Given the description of an element on the screen output the (x, y) to click on. 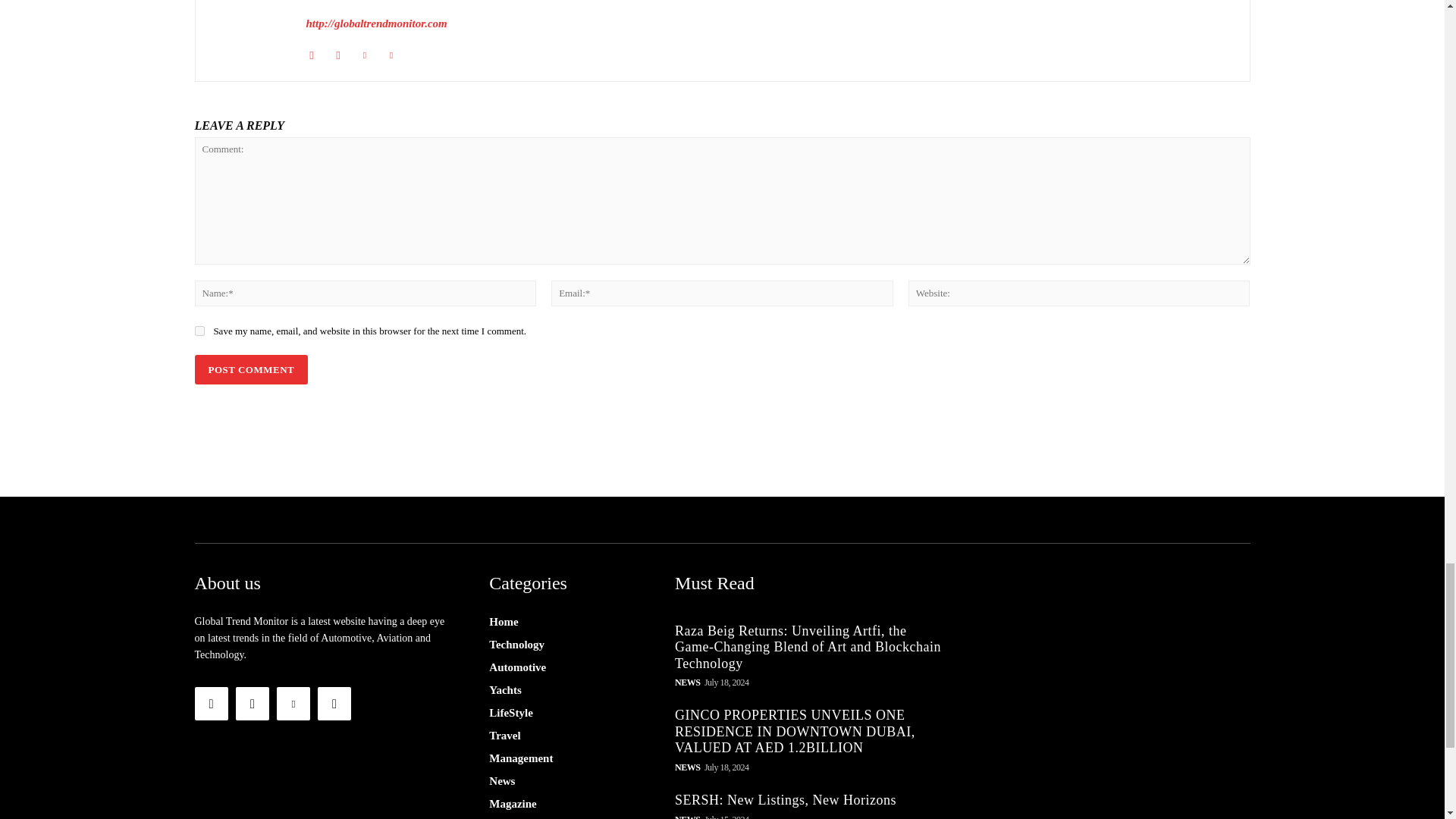
Post Comment (250, 369)
yes (198, 330)
